Given the description of an element on the screen output the (x, y) to click on. 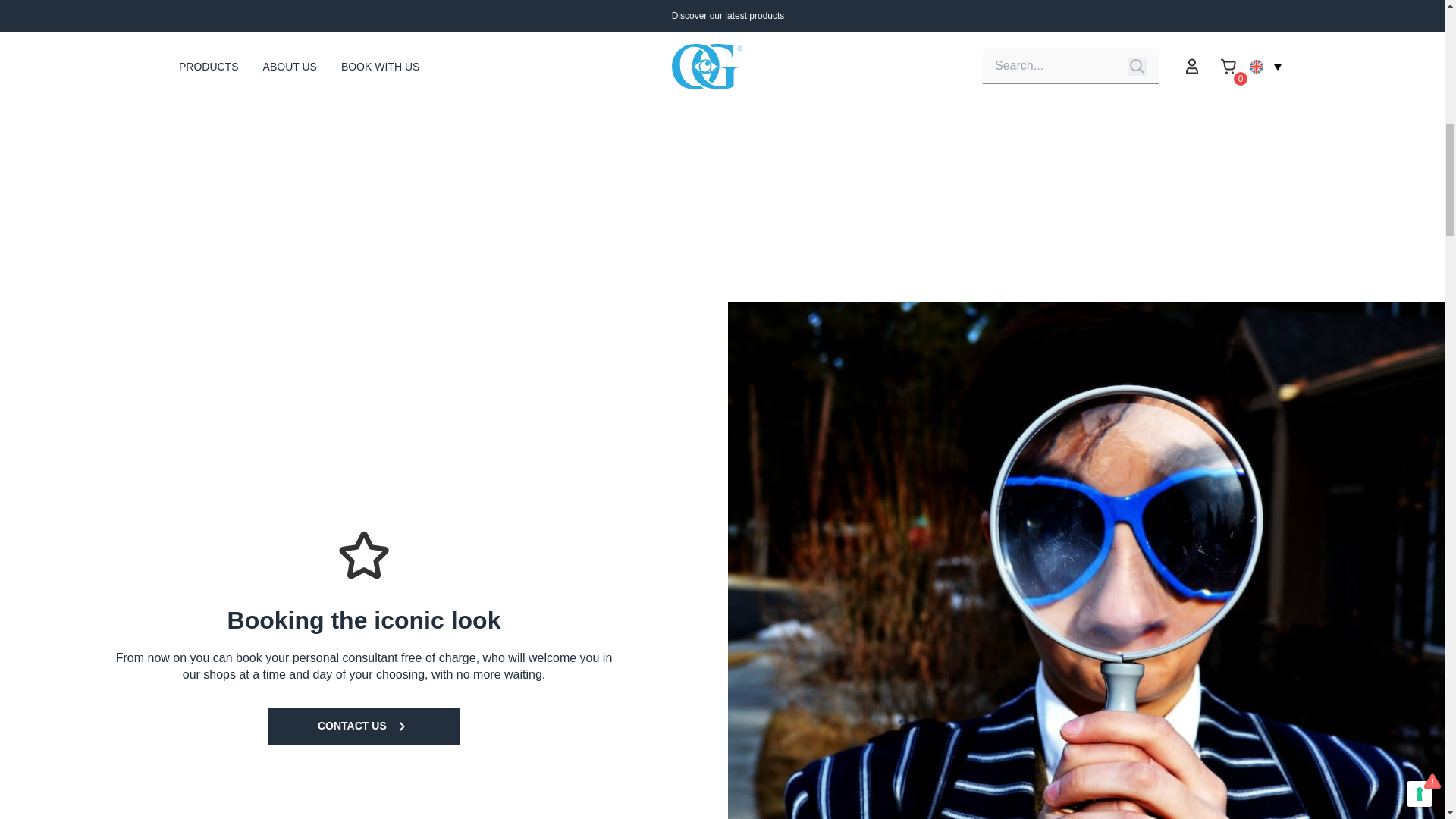
BOOK A VISIT (583, 34)
LOOKING FOR A REPLACEMENT? (871, 34)
BOOKING THE ICONIC LOOK (296, 34)
CONTACT US (363, 726)
LOOKING FOR A PAIR OF GLASSES? (1159, 44)
